Given the description of an element on the screen output the (x, y) to click on. 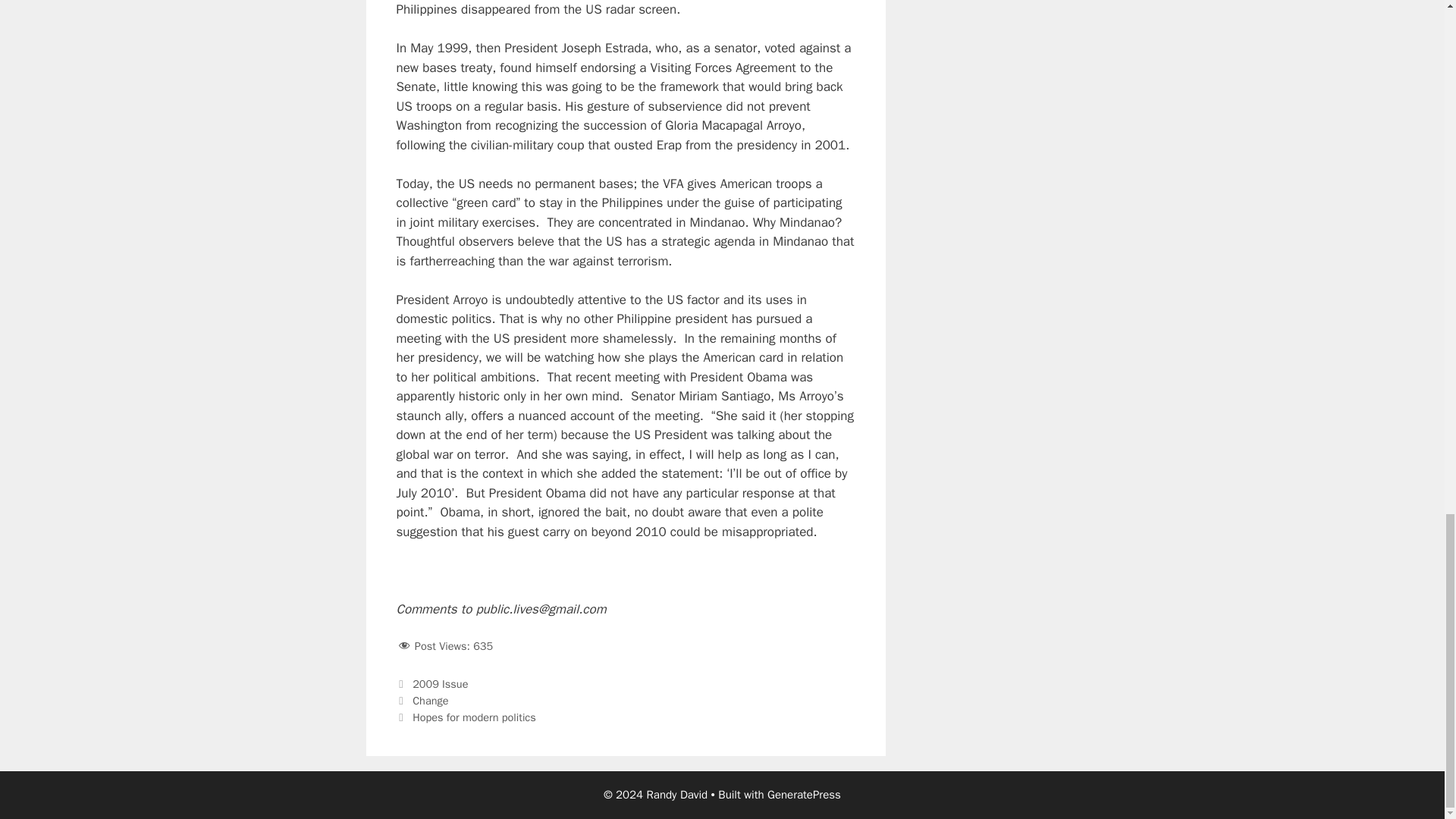
2009 Issue (439, 684)
Scroll back to top (1406, 132)
Change (430, 700)
